Given the description of an element on the screen output the (x, y) to click on. 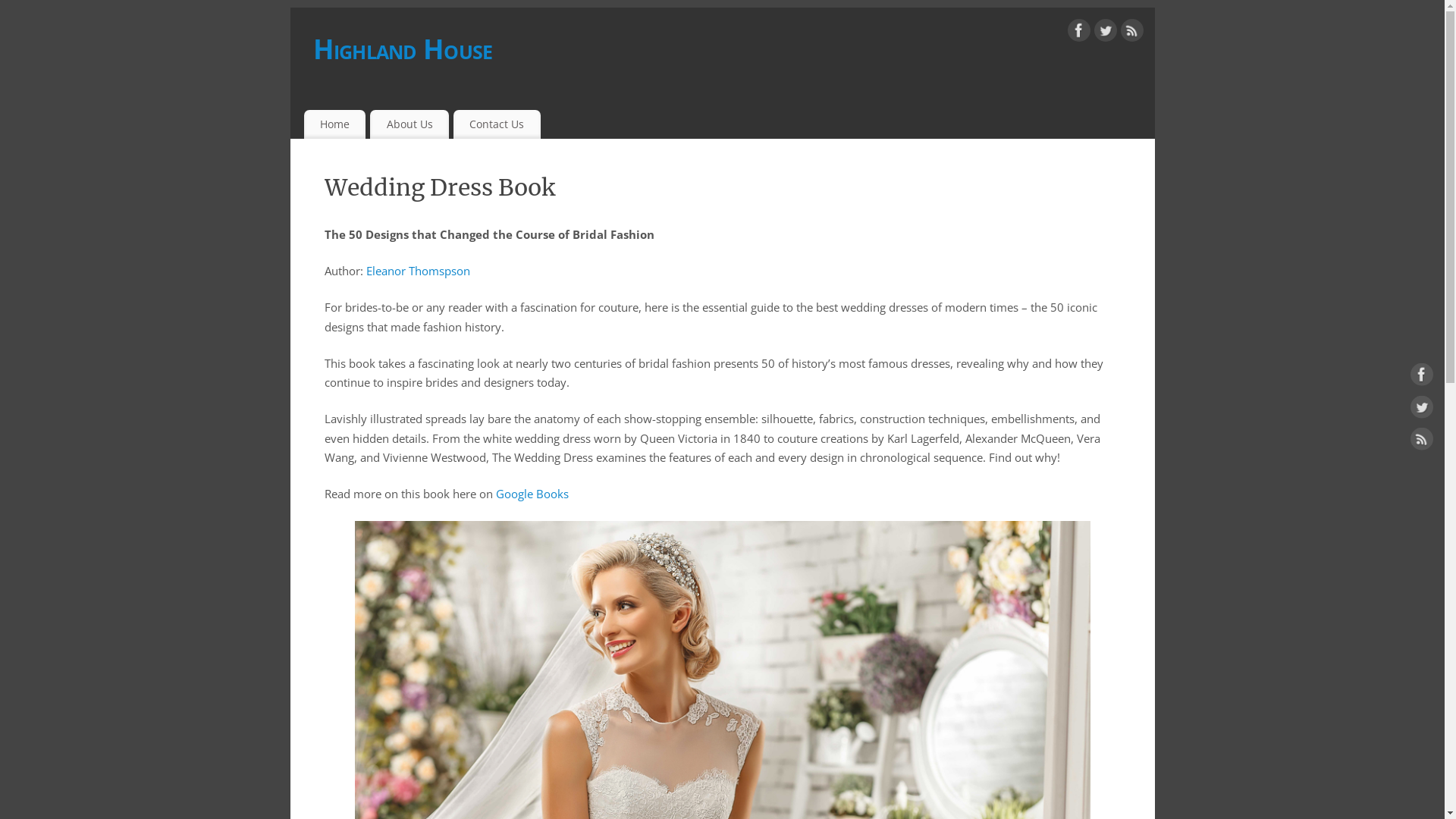
RSS Element type: hover (1131, 32)
RSS Element type: hover (1421, 441)
Highland House Element type: text (733, 49)
About Us Element type: text (409, 123)
Home Element type: text (334, 123)
Twitter Element type: hover (1421, 409)
Twitter Element type: hover (1104, 32)
Contact Us Element type: text (496, 123)
Facebook Element type: hover (1421, 377)
Facebook Element type: hover (1078, 32)
Eleanor Thomspson Element type: text (417, 270)
Google Books Element type: text (531, 493)
